Given the description of an element on the screen output the (x, y) to click on. 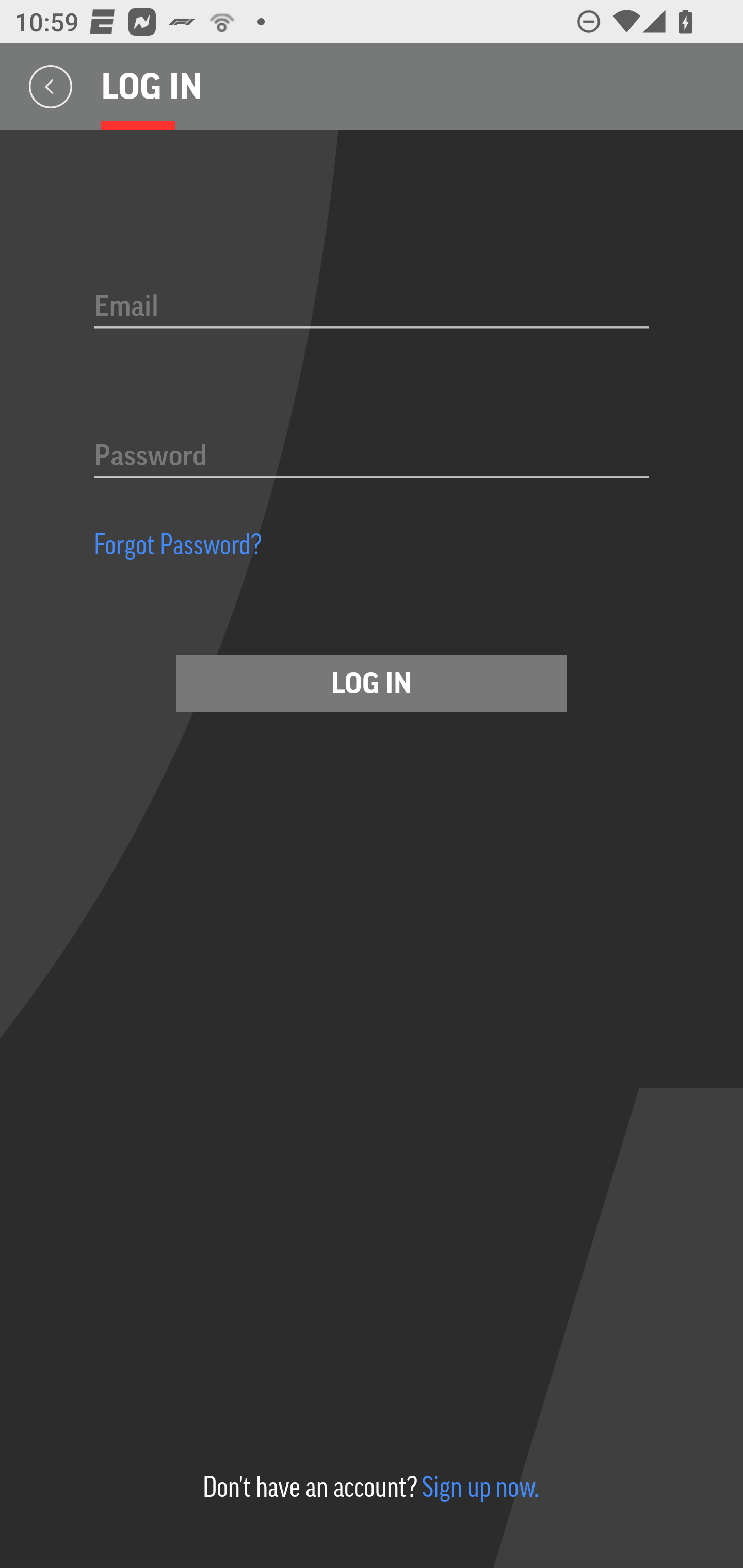
Email (371, 306)
Password (371, 456)
Forgot Password? (177, 543)
LOG IN (371, 682)
Don't have an account? Sign up now. (370, 1485)
